Given the description of an element on the screen output the (x, y) to click on. 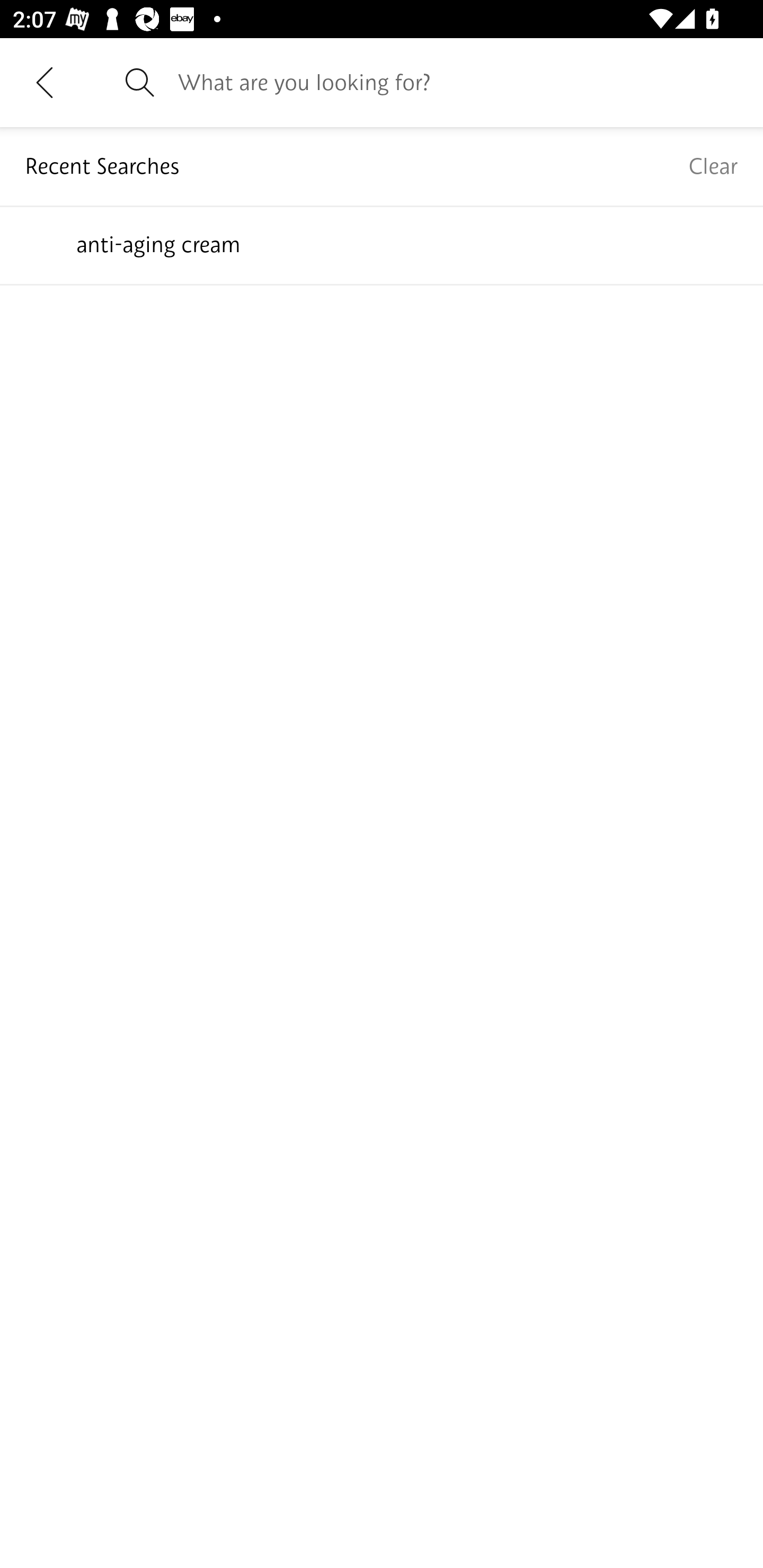
Navigate up (44, 82)
What are you looking for? (457, 82)
Clear (713, 165)
anti-aging cream (381, 244)
